Given the description of an element on the screen output the (x, y) to click on. 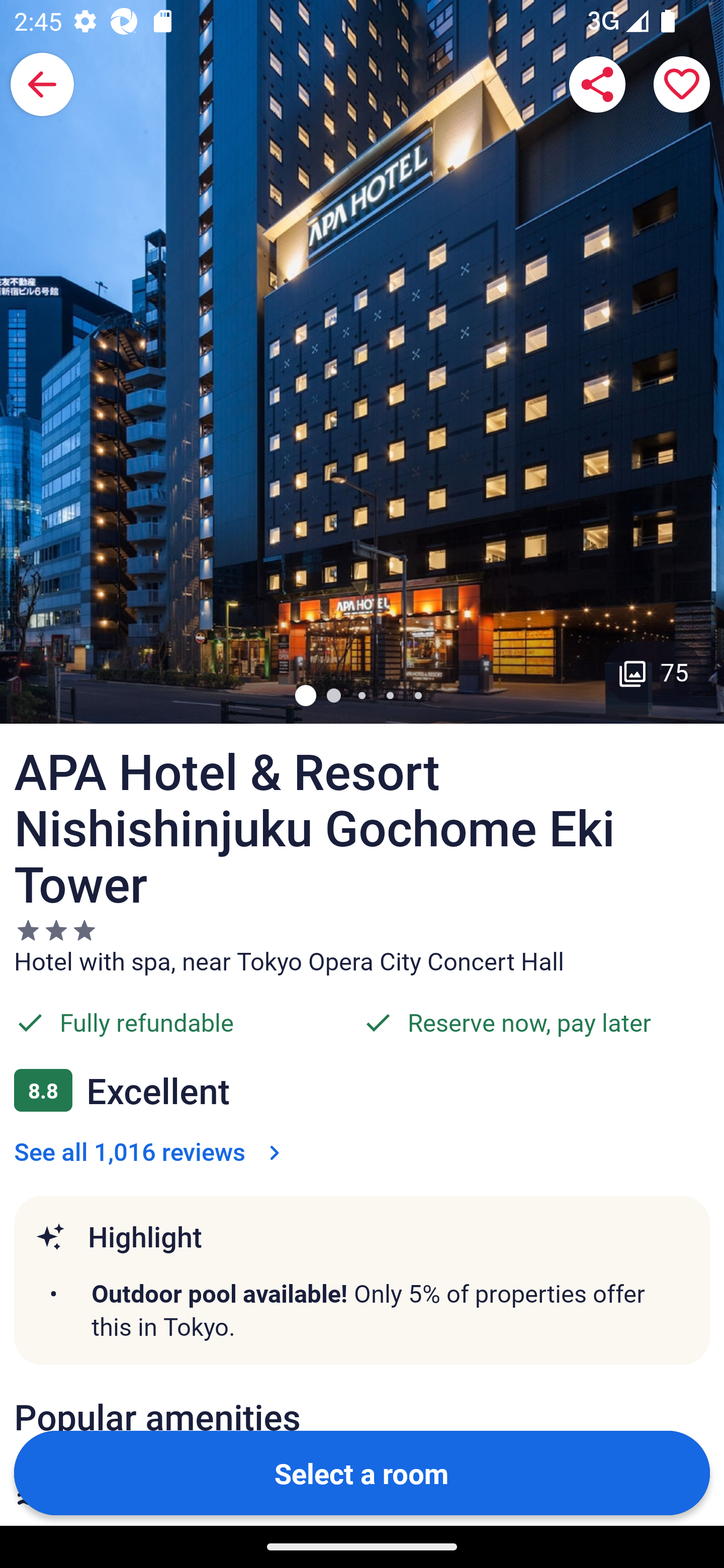
Back (42, 84)
Save property to a trip (681, 84)
Gallery button with 75 images (653, 671)
See all 1,016 reviews See all 1,016 reviews Link (150, 1150)
Select a room Button Select a room (361, 1472)
